Given the description of an element on the screen output the (x, y) to click on. 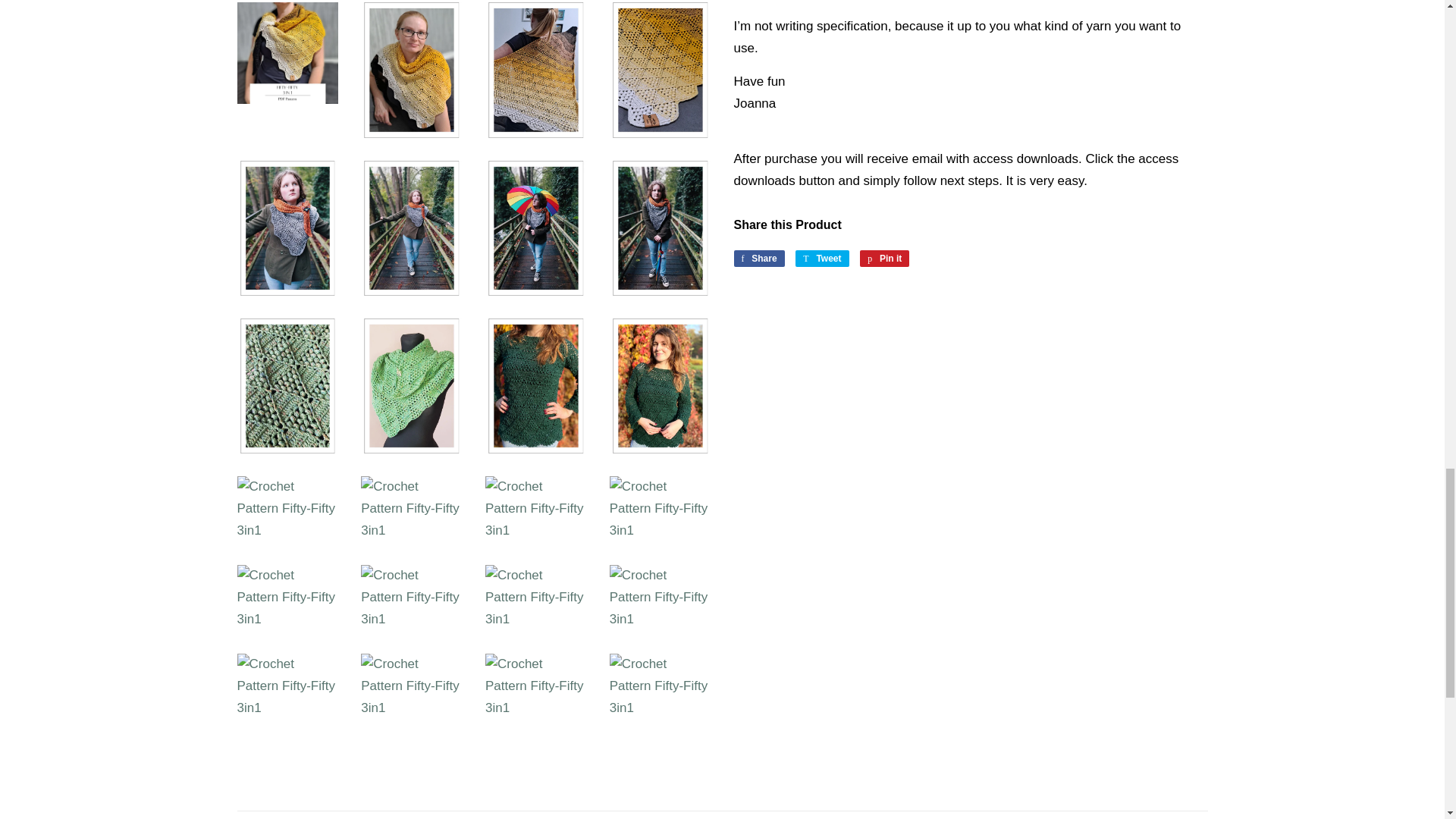
Tweet on Twitter (821, 258)
Pin on Pinterest (884, 258)
Share on Facebook (758, 258)
